Given the description of an element on the screen output the (x, y) to click on. 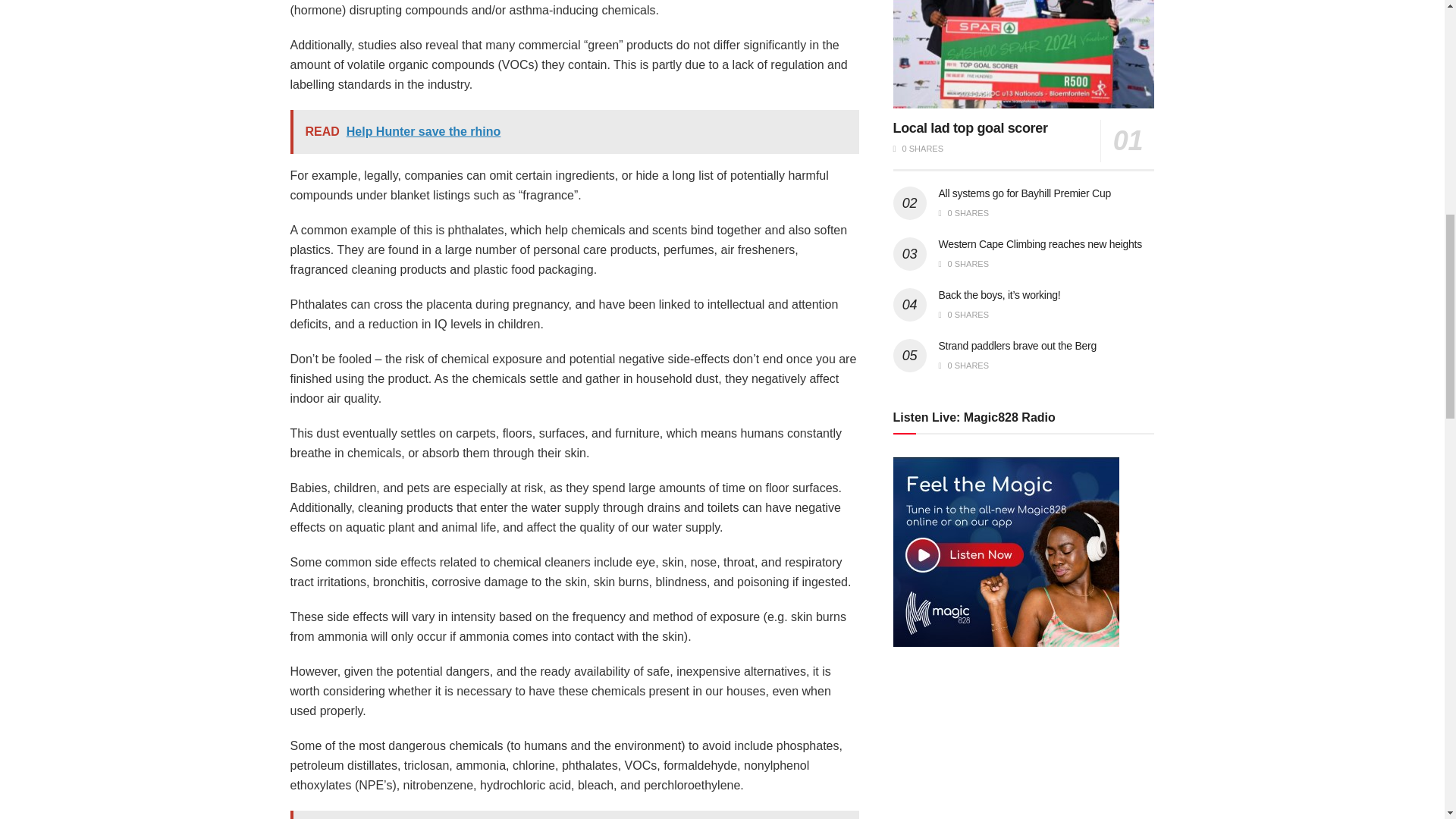
READ  Incompetence, not conspiracy (574, 814)
READ  Help Hunter save the rhino (574, 131)
